Given the description of an element on the screen output the (x, y) to click on. 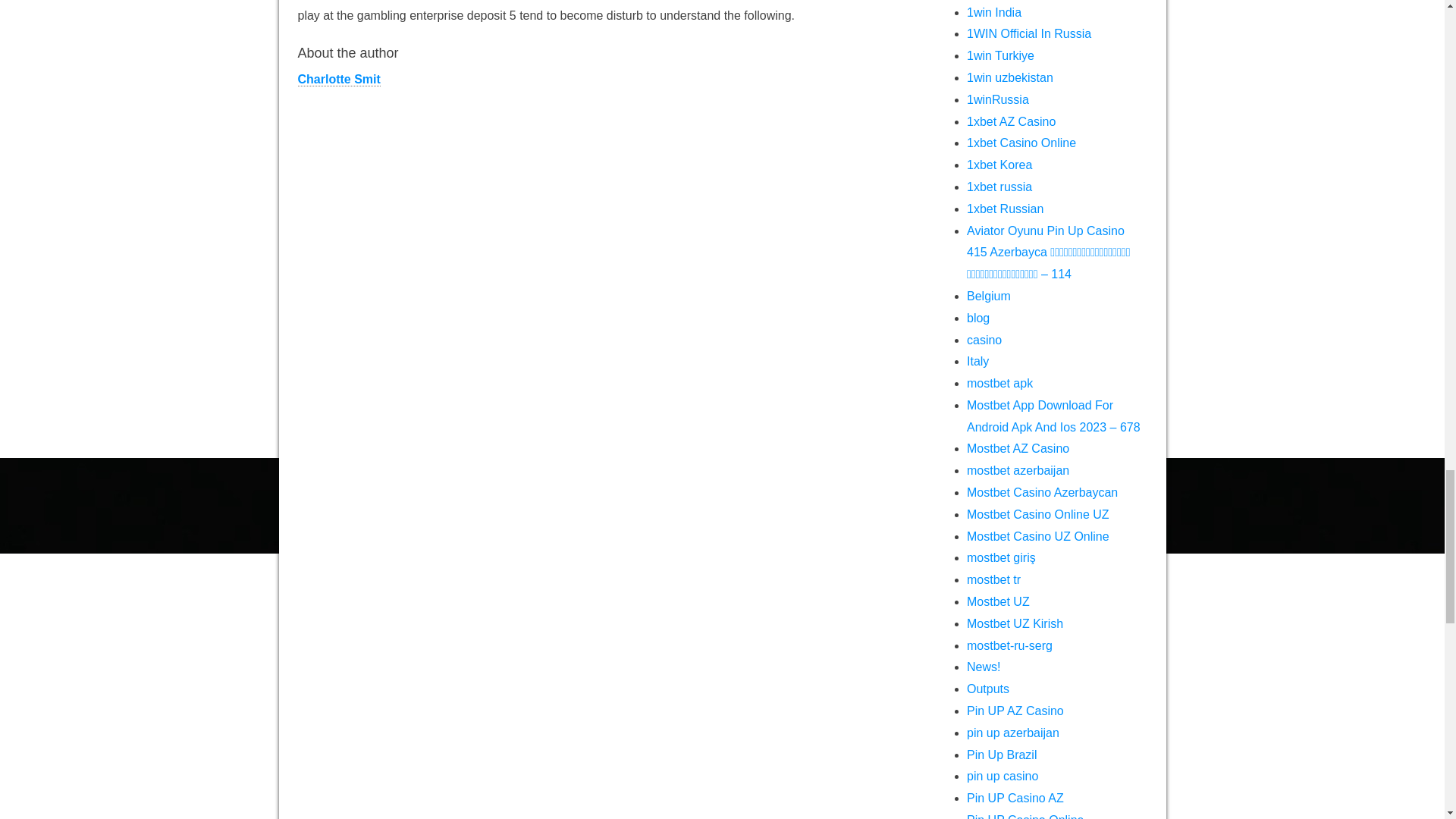
Charlotte Smit (338, 79)
Posts by Charlotte Smit (338, 79)
